Given the description of an element on the screen output the (x, y) to click on. 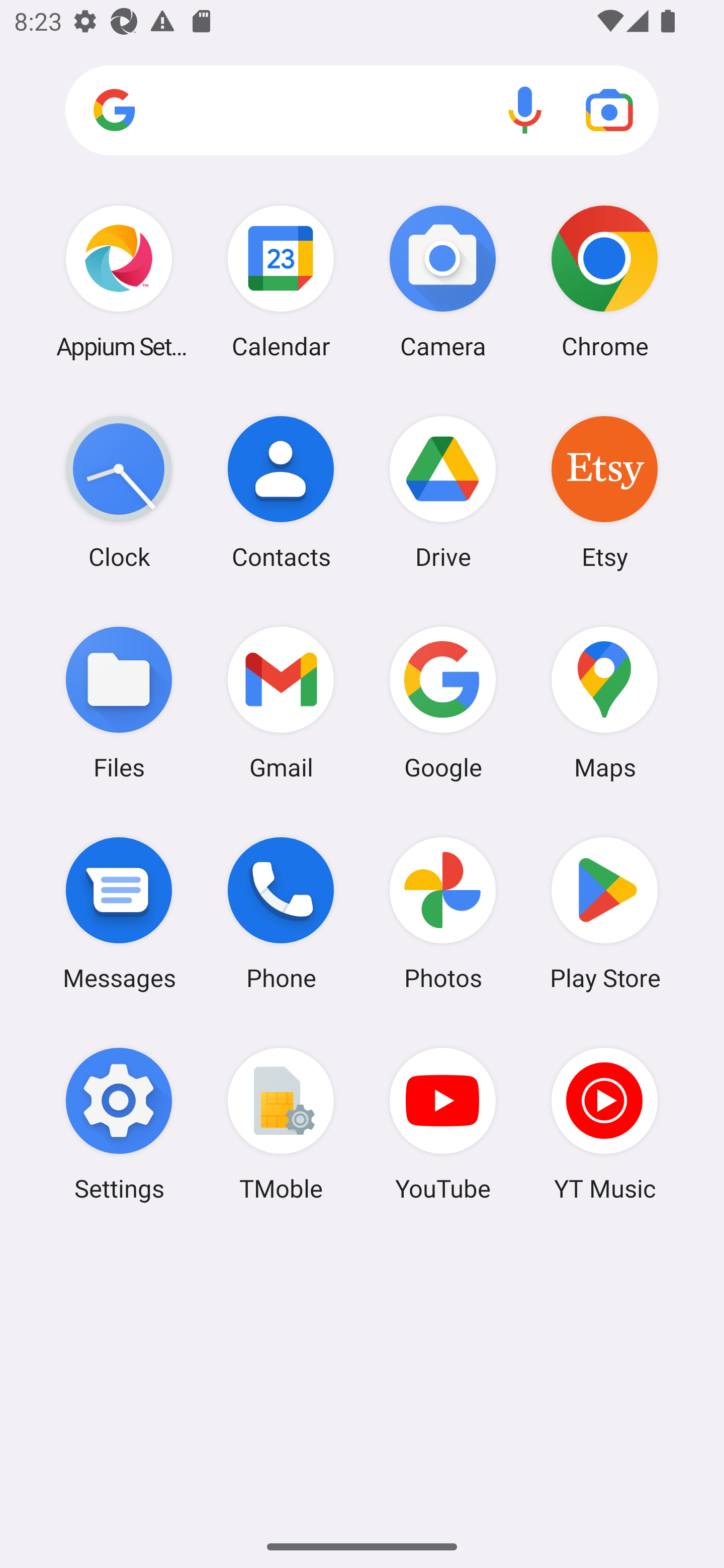
Search apps, web and more (361, 110)
Voice search (524, 109)
Google Lens (608, 109)
Appium Settings (118, 281)
Calendar (280, 281)
Camera (443, 281)
Chrome (604, 281)
Clock (118, 492)
Contacts (280, 492)
Drive (443, 492)
Etsy (604, 492)
Files (118, 702)
Gmail (280, 702)
Google (443, 702)
Maps (604, 702)
Messages (118, 913)
Phone (280, 913)
Photos (443, 913)
Play Store (604, 913)
Settings (118, 1124)
TMoble (280, 1124)
YouTube (443, 1124)
YT Music (604, 1124)
